Given the description of an element on the screen output the (x, y) to click on. 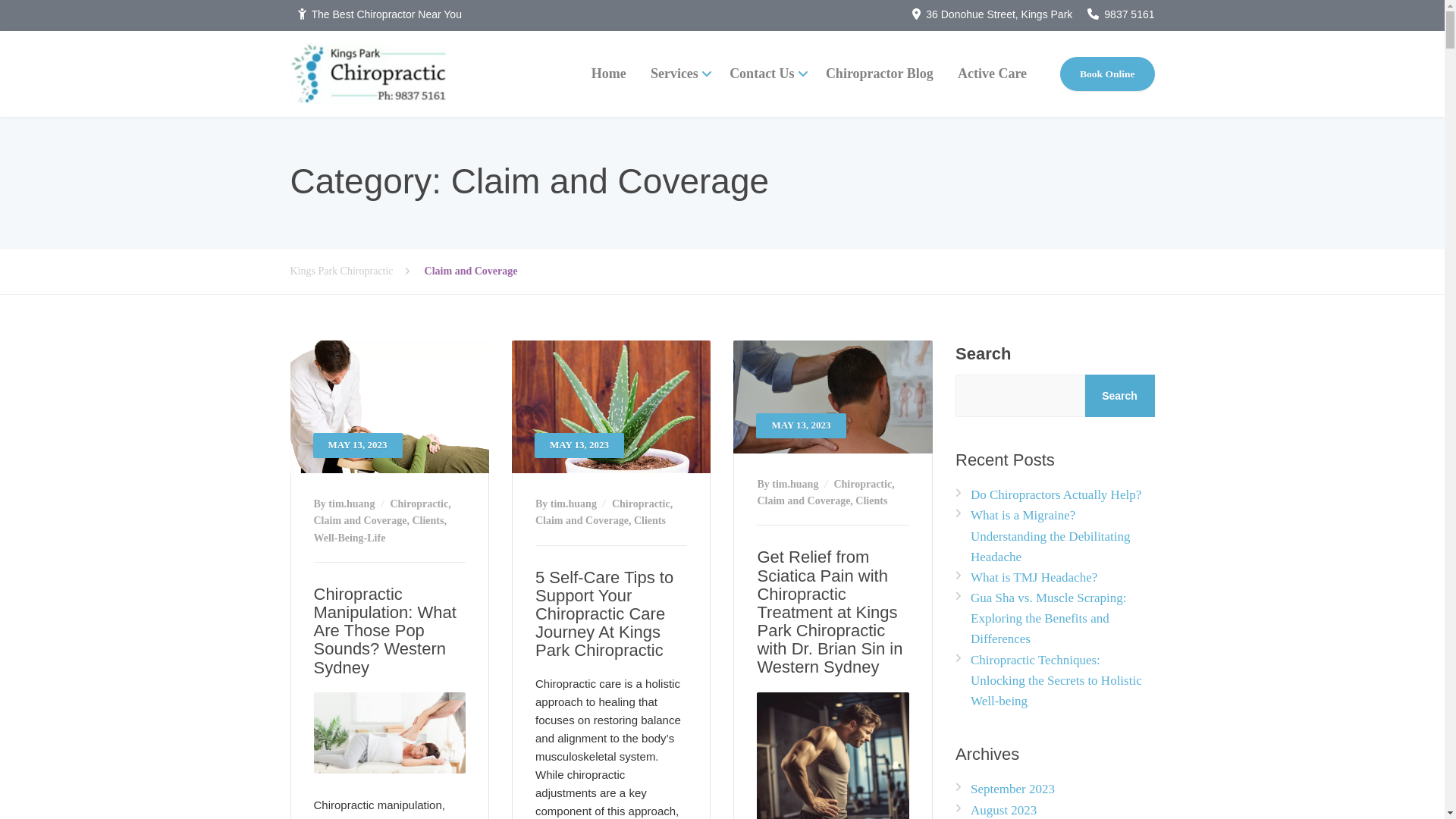
MAY 13, 2023 Element type: text (832, 396)
Active Care Element type: text (992, 73)
Chiropractic Element type: text (418, 503)
Do Chiropractors Actually Help? Element type: text (1048, 494)
Chiropractic Element type: text (862, 483)
Clients Element type: text (871, 500)
What is TMJ Headache? Element type: text (1026, 577)
Home Element type: text (608, 73)
Search Element type: text (1119, 395)
Kings Park Chiropractic Element type: hover (367, 73)
Well-Being-Life Element type: text (349, 537)
Kings Park Chiropractic Element type: text (356, 271)
Contact Us Element type: text (765, 73)
Services Element type: text (677, 73)
What is a Migraine? Understanding the Debilitating Headache Element type: text (1054, 536)
Chiropractor Blog Element type: text (879, 73)
Claim and Coverage Element type: text (360, 520)
Chiropractic Element type: text (640, 503)
Claim and Coverage Element type: text (581, 520)
Book Online Element type: text (1107, 73)
Claim and Coverage Element type: text (803, 500)
MAY 13, 2023 Element type: text (610, 406)
Clients Element type: text (427, 520)
September 2023 Element type: text (1004, 788)
Clients Element type: text (649, 520)
MAY 13, 2023 Element type: text (388, 406)
